Given the description of an element on the screen output the (x, y) to click on. 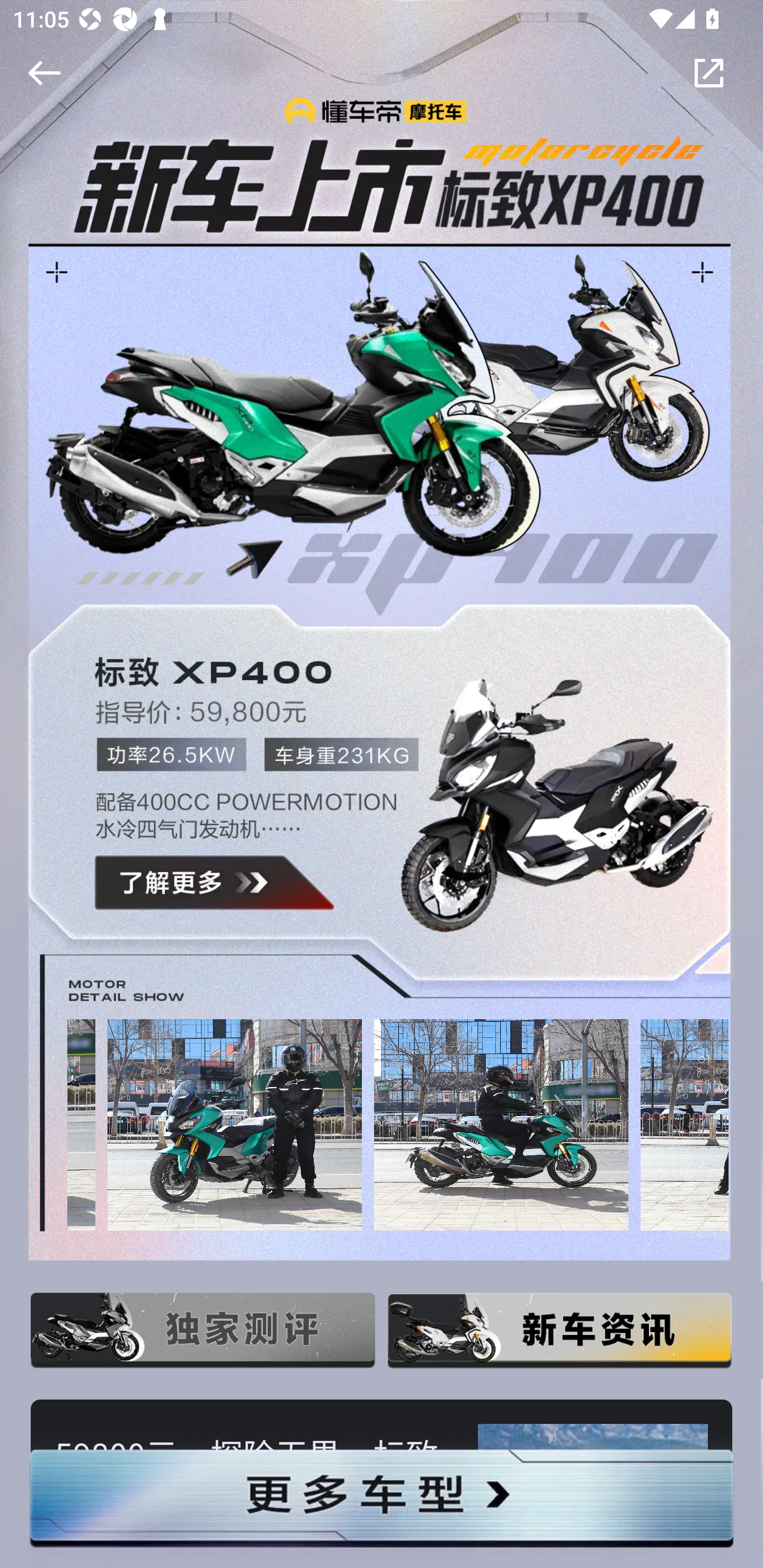
 (41, 72)
